Given the description of an element on the screen output the (x, y) to click on. 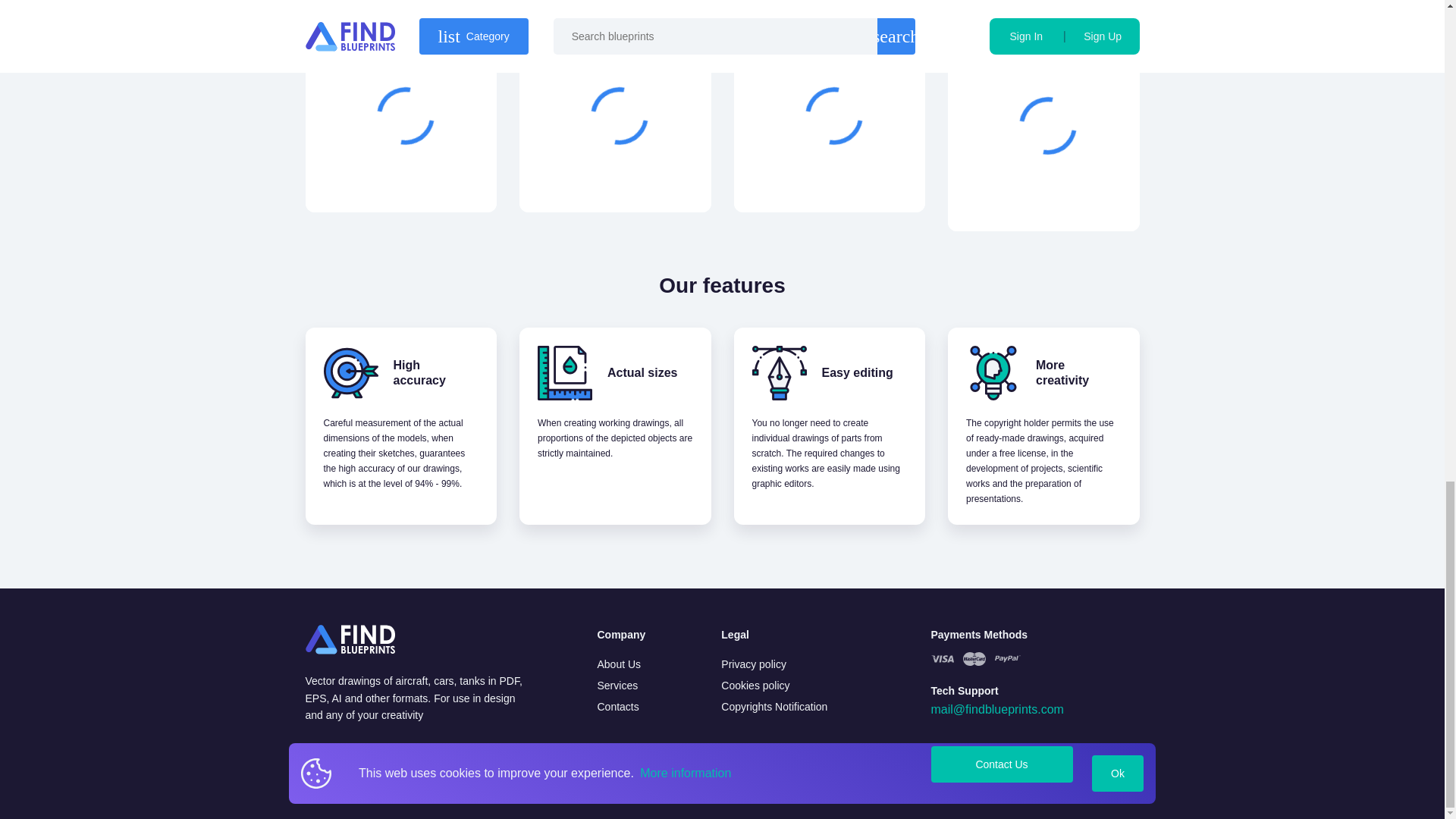
More (617, 176)
More (831, 176)
More (1045, 194)
More (402, 176)
